Given the description of an element on the screen output the (x, y) to click on. 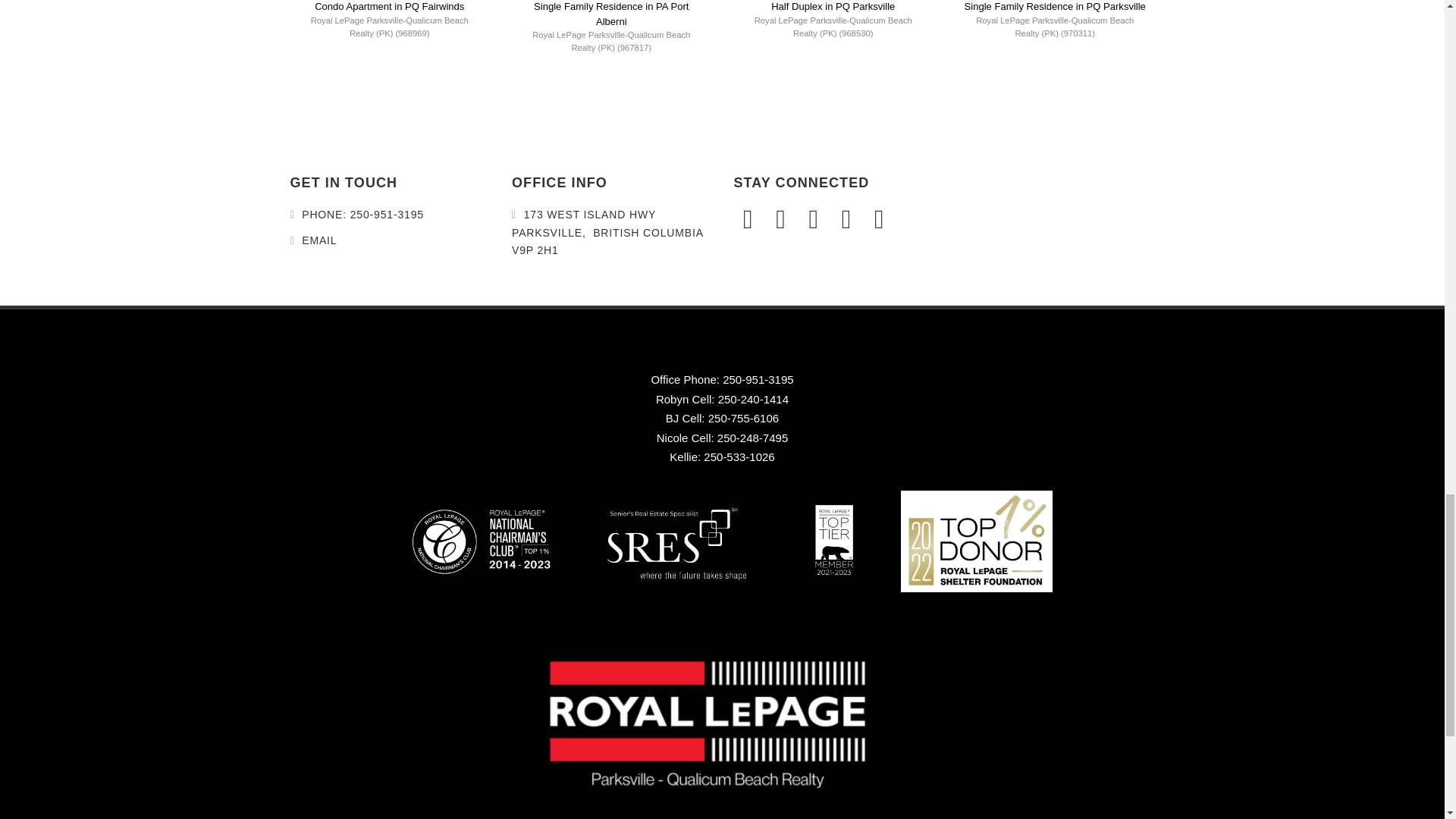
Facebook (750, 219)
Instagram (783, 219)
